Given the description of an element on the screen output the (x, y) to click on. 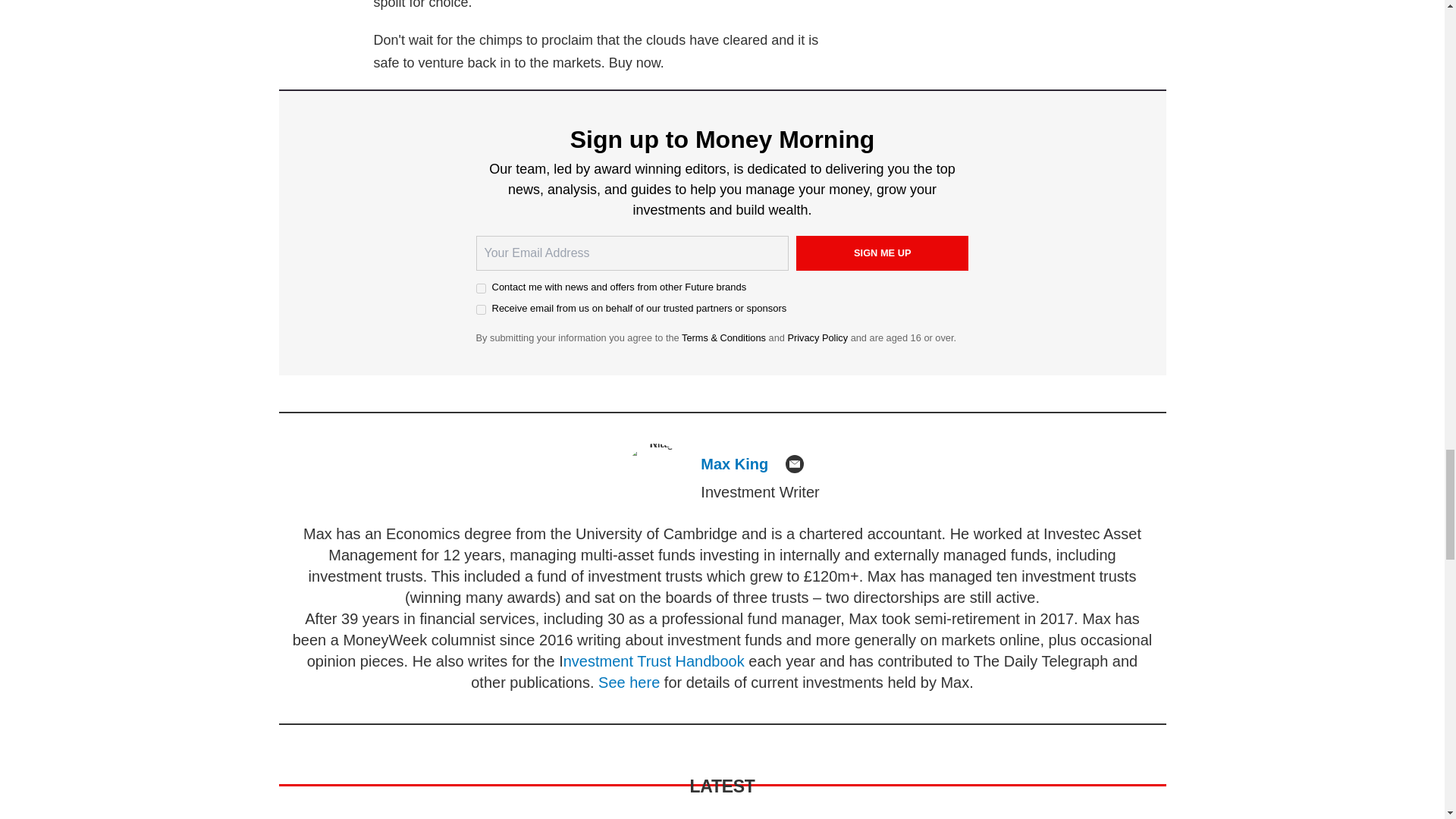
on (481, 309)
Sign me up (882, 253)
on (481, 288)
